Given the description of an element on the screen output the (x, y) to click on. 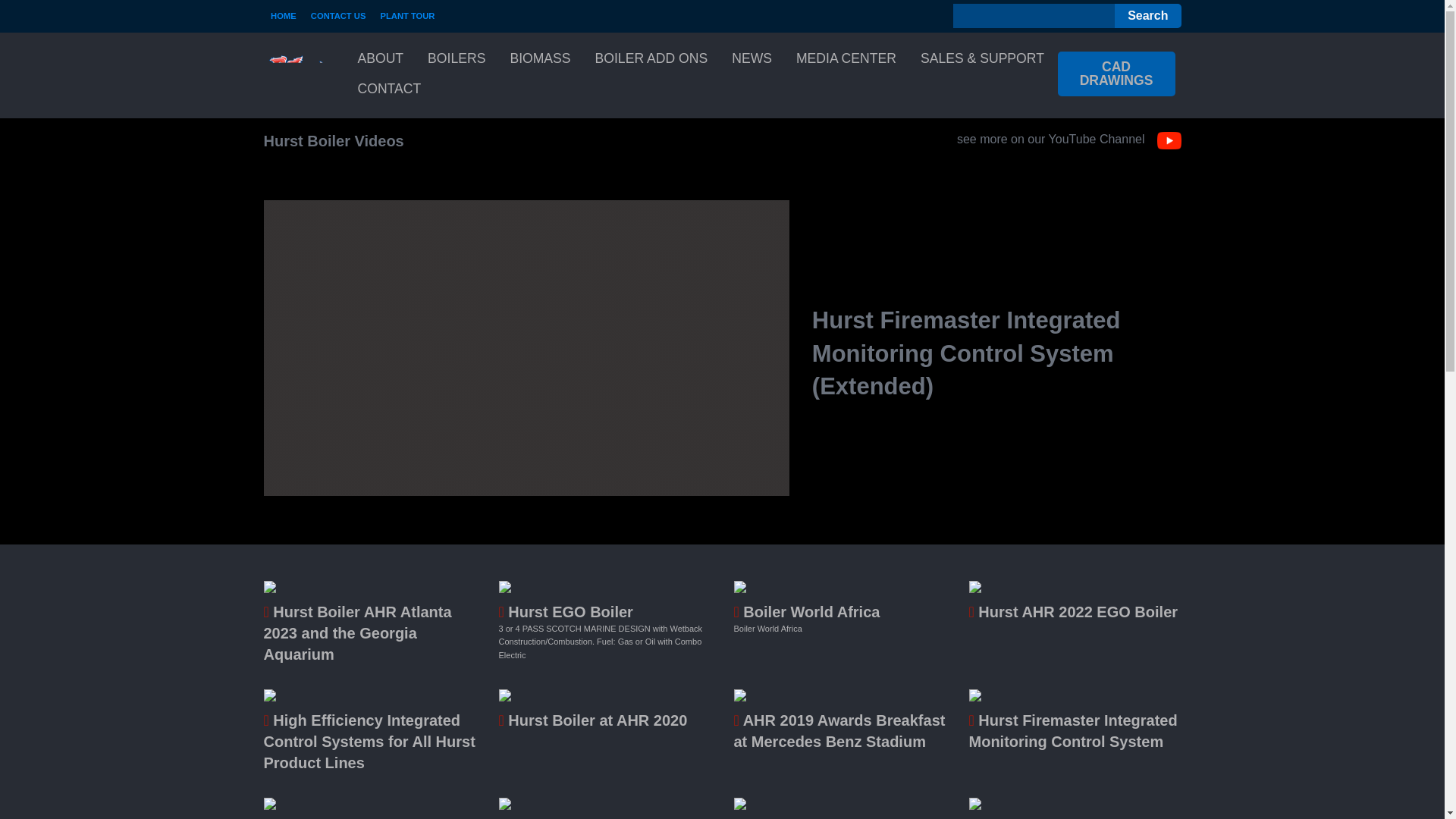
BOILERS (455, 59)
Boilers (455, 59)
Search (1147, 15)
BOILER ADD ONS (651, 59)
CONTACT US (337, 15)
PLANT TOUR (407, 15)
HOME (283, 15)
BIOMASS (539, 59)
ABOUT (381, 59)
About (381, 59)
